Given the description of an element on the screen output the (x, y) to click on. 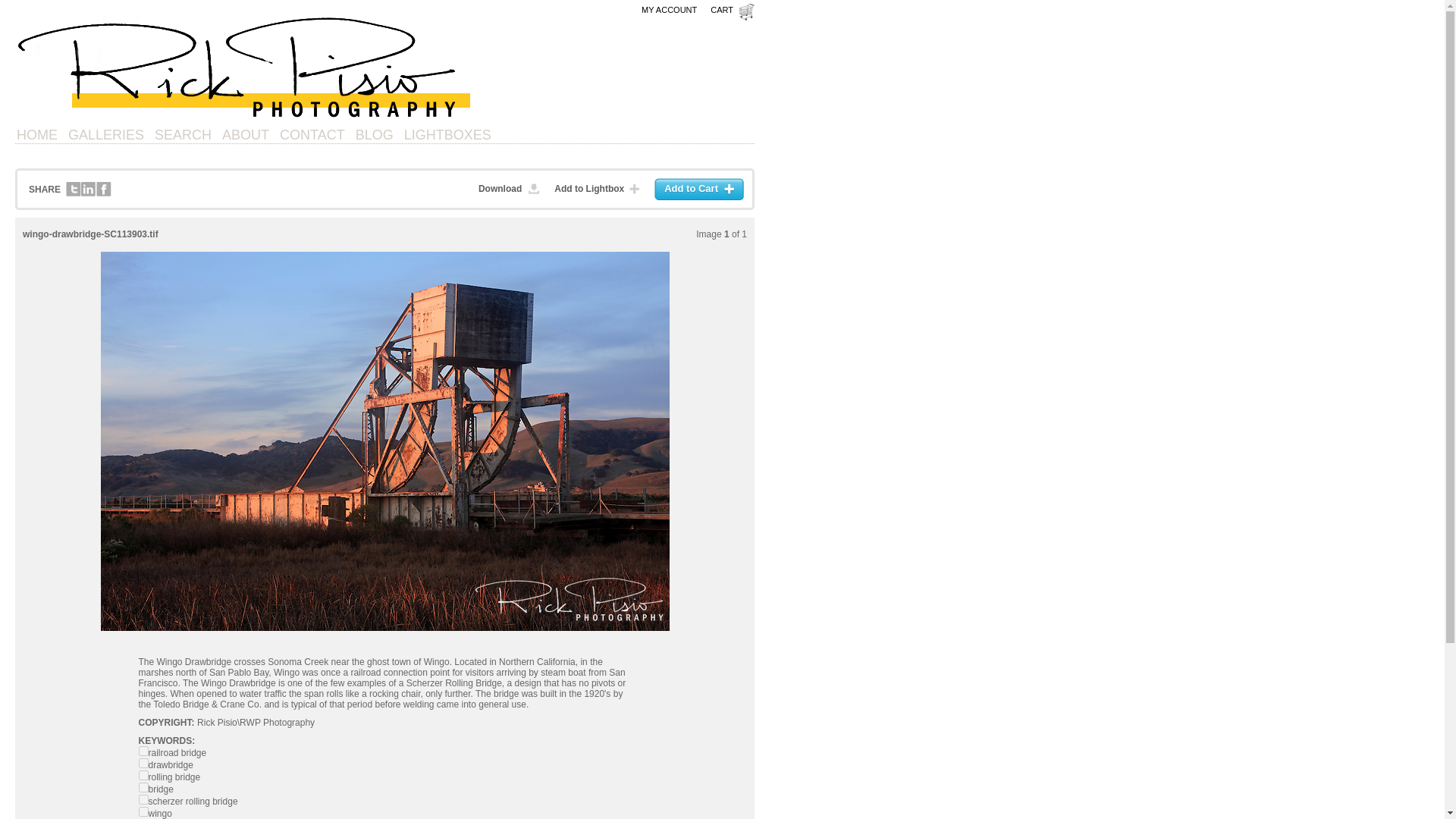
rolling bridge (143, 775)
Galleries (105, 135)
wingo (143, 811)
MY ACCOUNT (669, 9)
GALLERIES (105, 135)
Download (513, 188)
HOME (36, 135)
railroad bridge (143, 750)
bridge (143, 787)
BLOG (373, 135)
Contact (312, 135)
Cart (732, 12)
Lightboxes (448, 135)
Home (36, 135)
scherzer rolling bridge (143, 799)
